Given the description of an element on the screen output the (x, y) to click on. 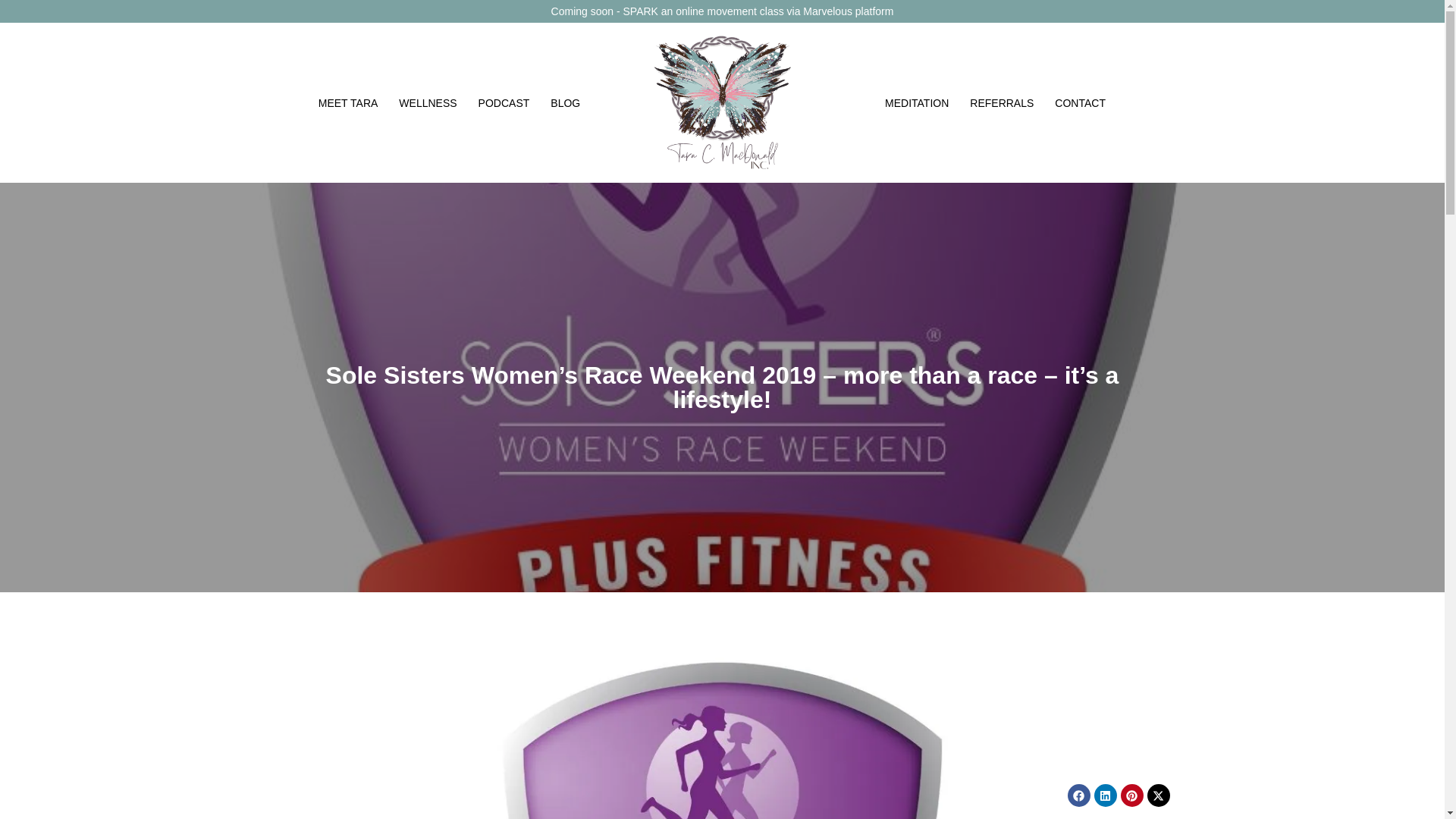
REFERRALS (1001, 102)
MEDITATION (917, 102)
PODCAST (503, 102)
MEET TARA (347, 102)
BLOG (565, 102)
WELLNESS (427, 102)
CONTACT (1079, 102)
